Given the description of an element on the screen output the (x, y) to click on. 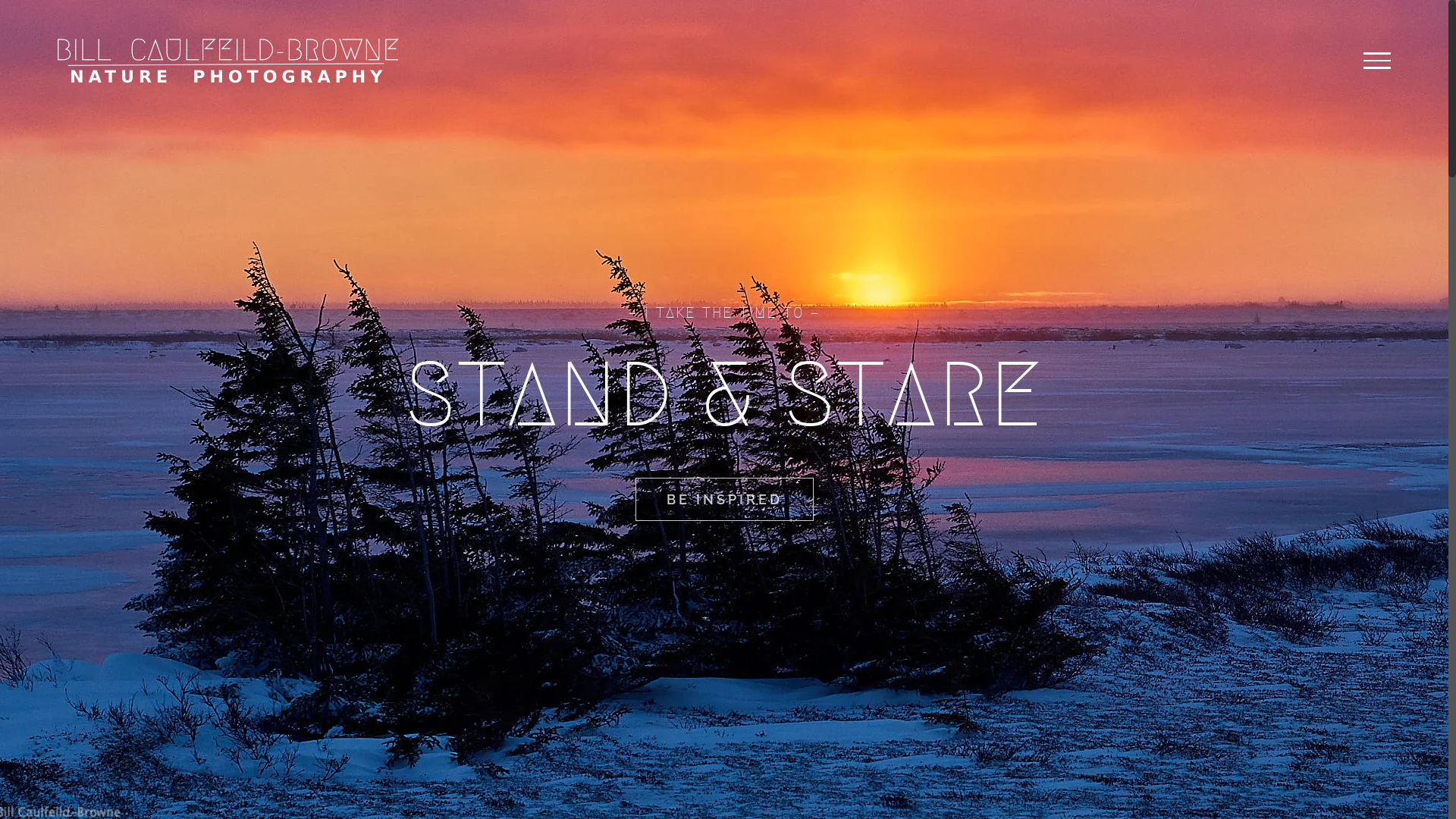
BE INSPIRED Element type: text (724, 498)
